Given the description of an element on the screen output the (x, y) to click on. 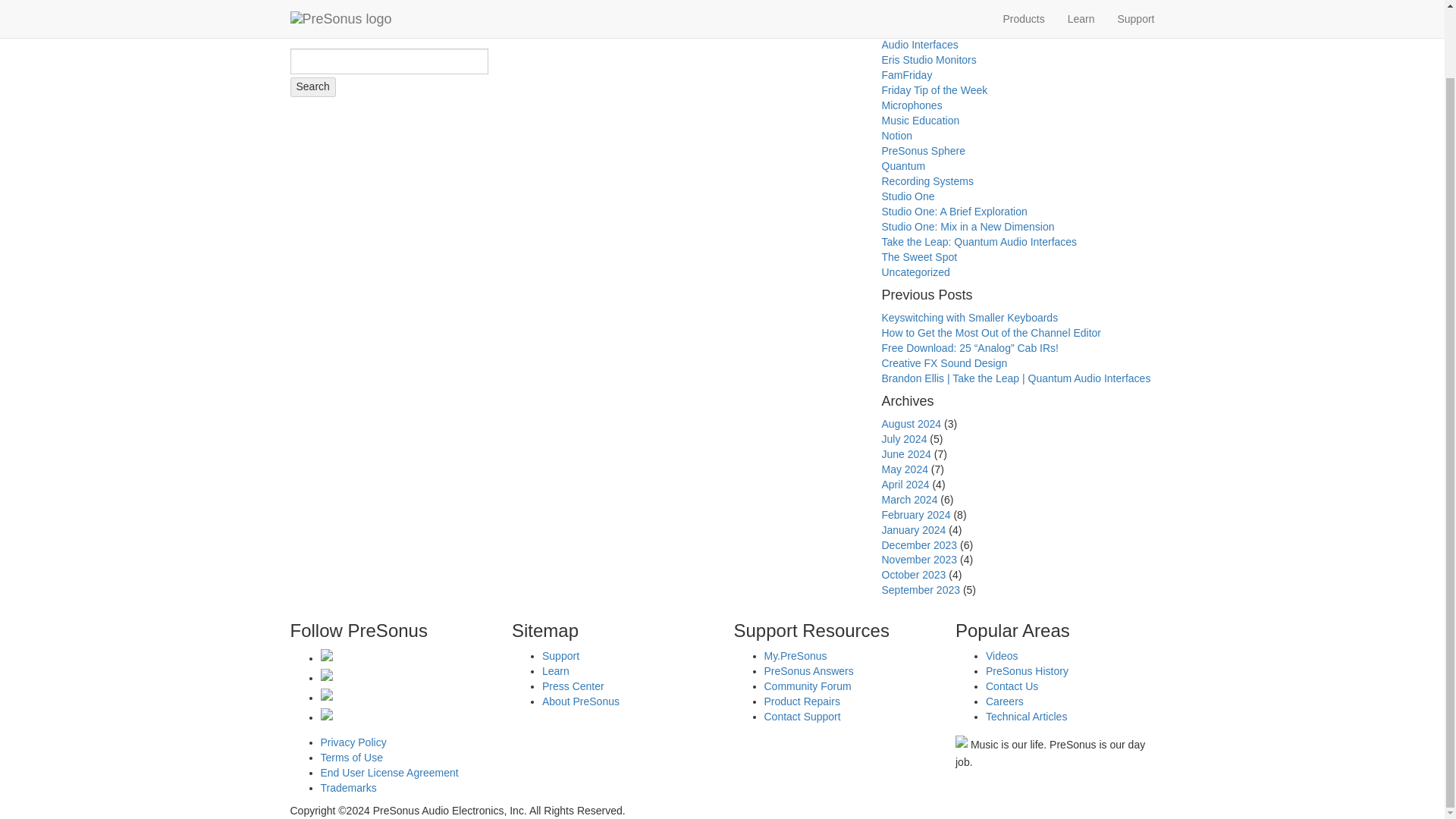
Artist (892, 29)
Ampire (897, 14)
Search (311, 86)
Friday Tip of the Week (933, 90)
Music Education (919, 120)
Search (311, 86)
Eris Studio Monitors (927, 60)
Notion (895, 135)
Microphones (911, 105)
Audio Interfaces (919, 44)
